Given the description of an element on the screen output the (x, y) to click on. 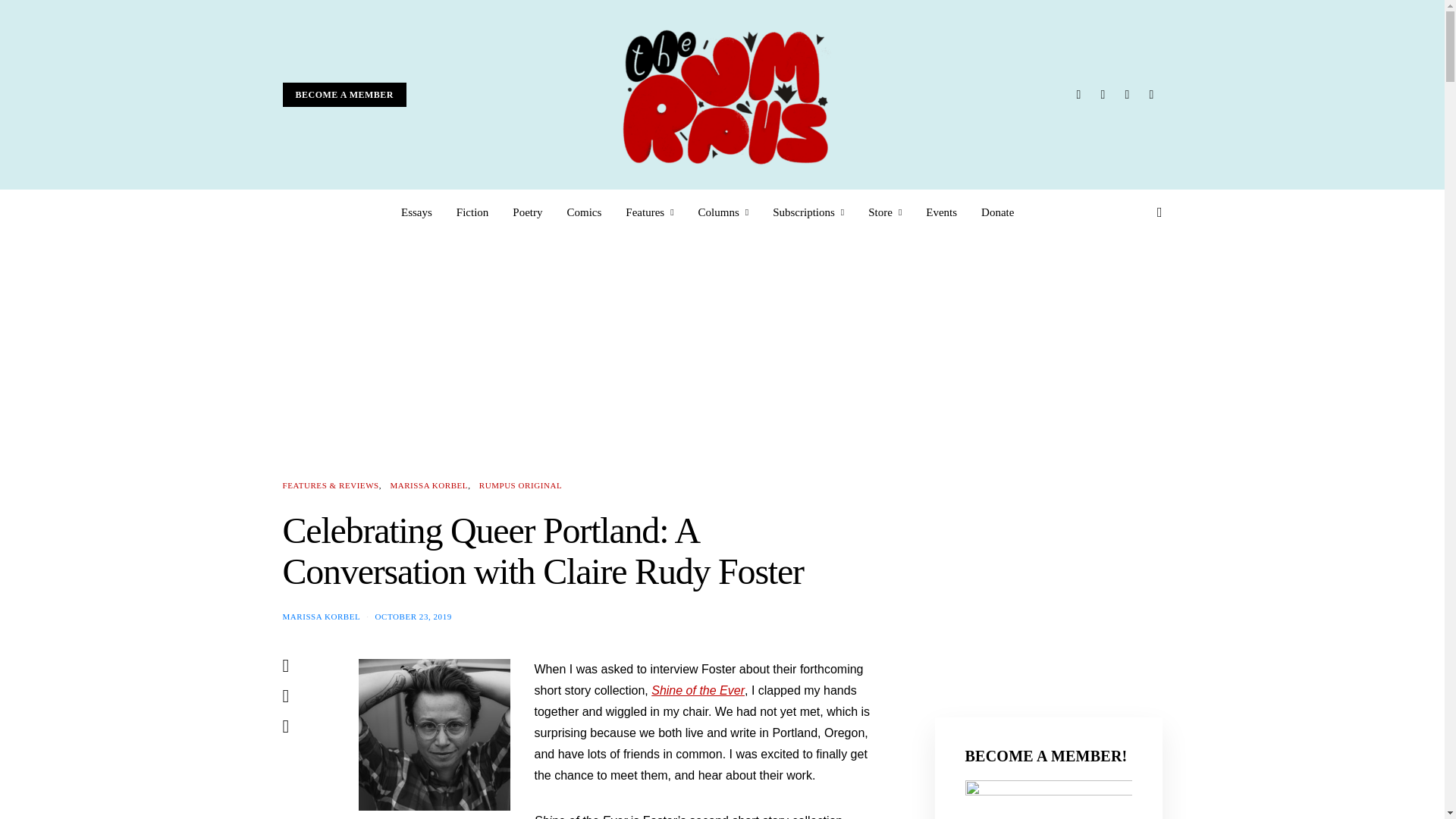
BECOME A MEMBER (344, 94)
View all posts by Marissa Korbel (320, 614)
3rd party ad content (1047, 574)
